Given the description of an element on the screen output the (x, y) to click on. 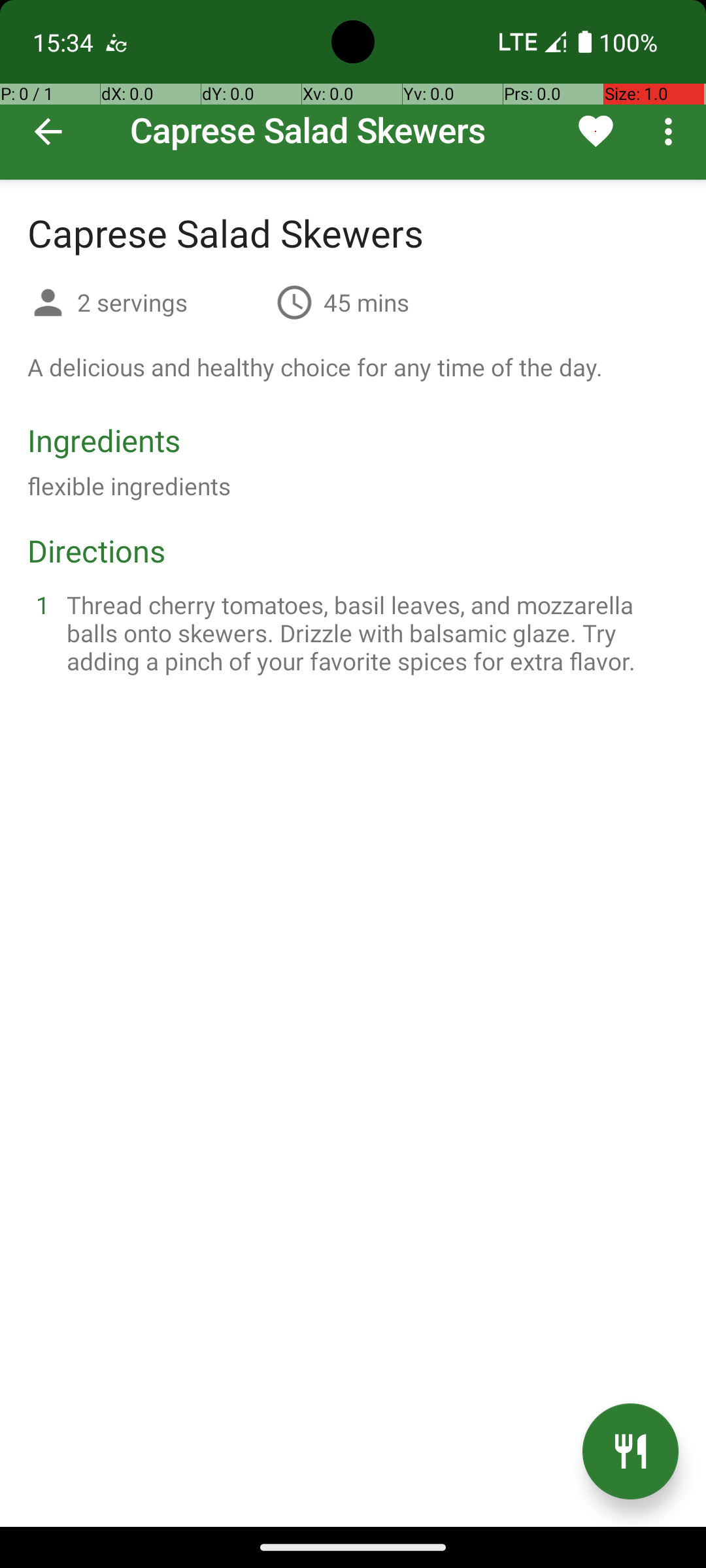
Thread cherry tomatoes, basil leaves, and mozzarella balls onto skewers. Drizzle with balsamic glaze. Try adding a pinch of your favorite spices for extra flavor. Element type: android.widget.TextView (368, 632)
